Given the description of an element on the screen output the (x, y) to click on. 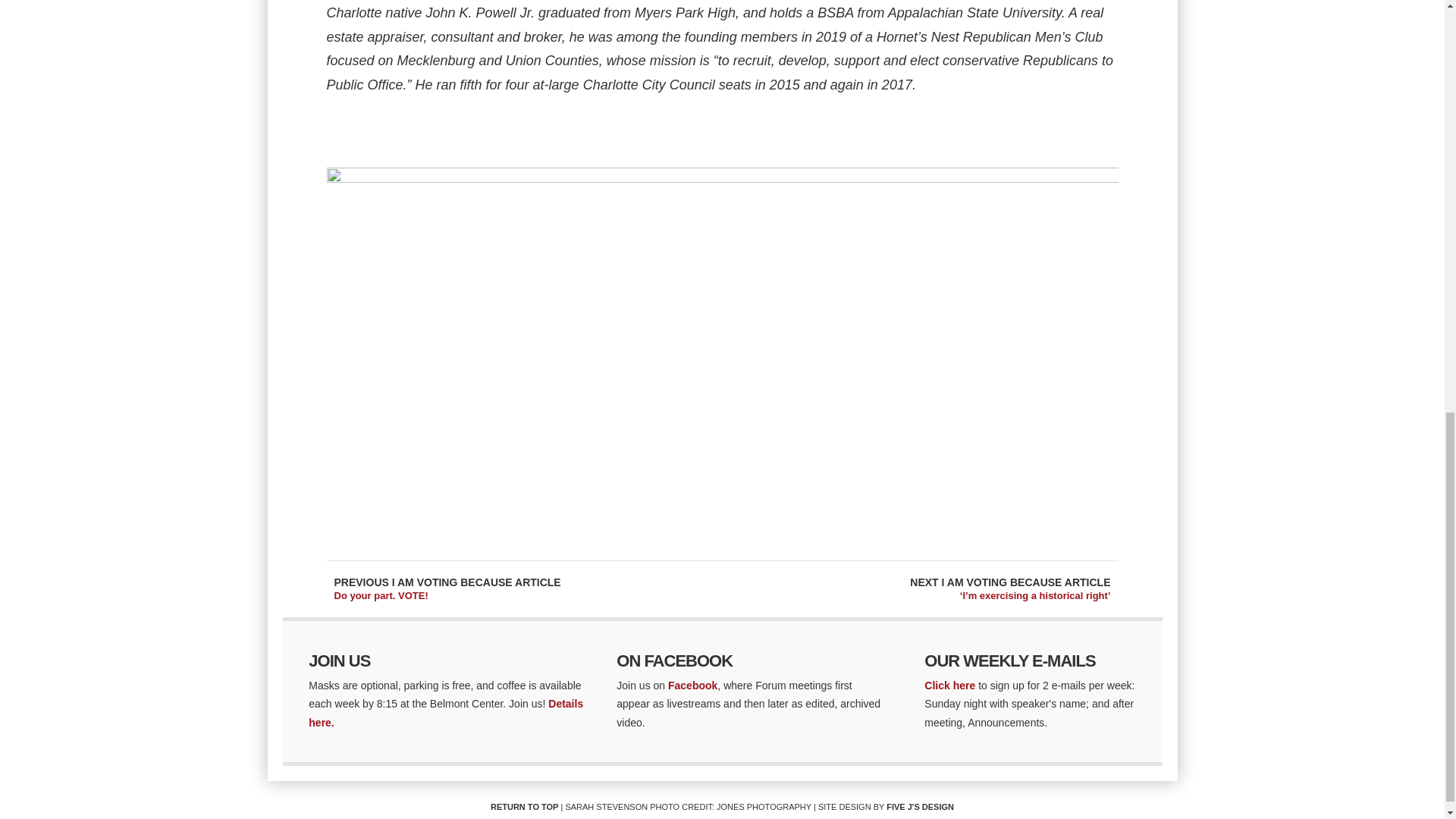
FIVE J'S DESIGN (919, 806)
Do your part. VOTE! (380, 595)
RETURN TO TOP (523, 806)
Click here (949, 685)
Facebook (692, 685)
Details here. (445, 712)
